Given the description of an element on the screen output the (x, y) to click on. 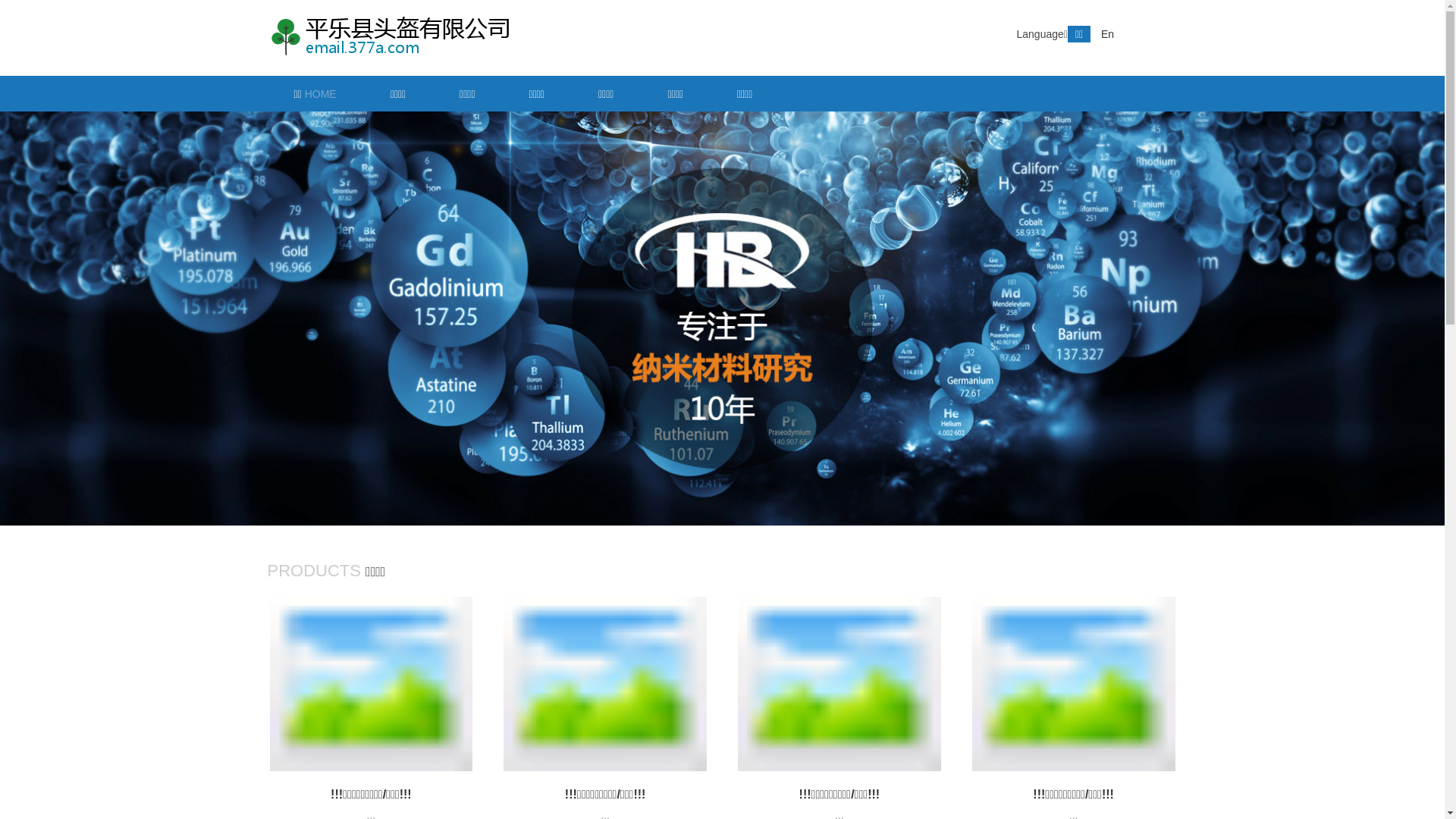
En Element type: text (1107, 33)
